Given the description of an element on the screen output the (x, y) to click on. 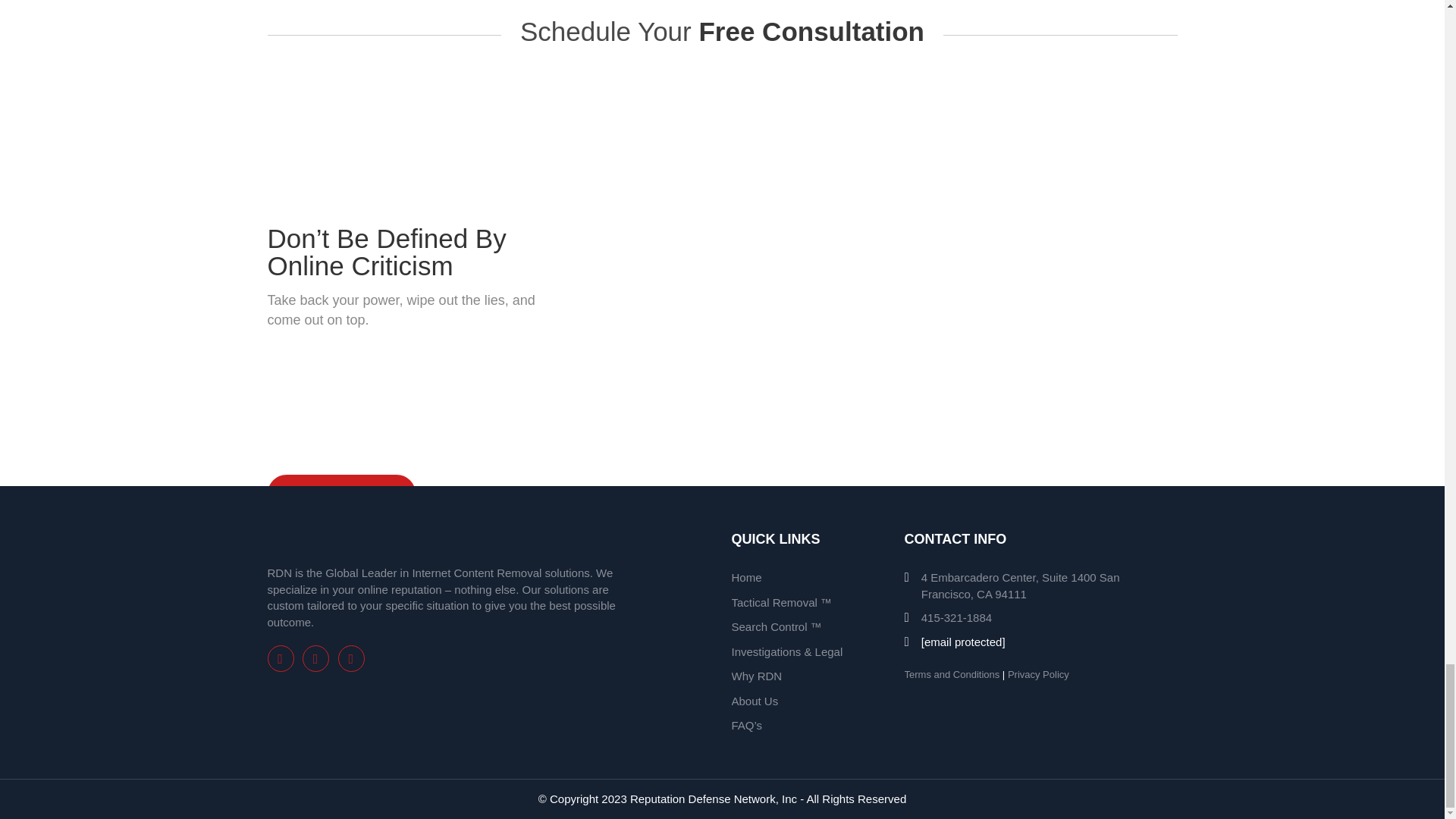
Home (745, 576)
Why RDN (755, 675)
GET STARTED (340, 493)
415-321-1884 (947, 617)
About Us (753, 700)
